Given the description of an element on the screen output the (x, y) to click on. 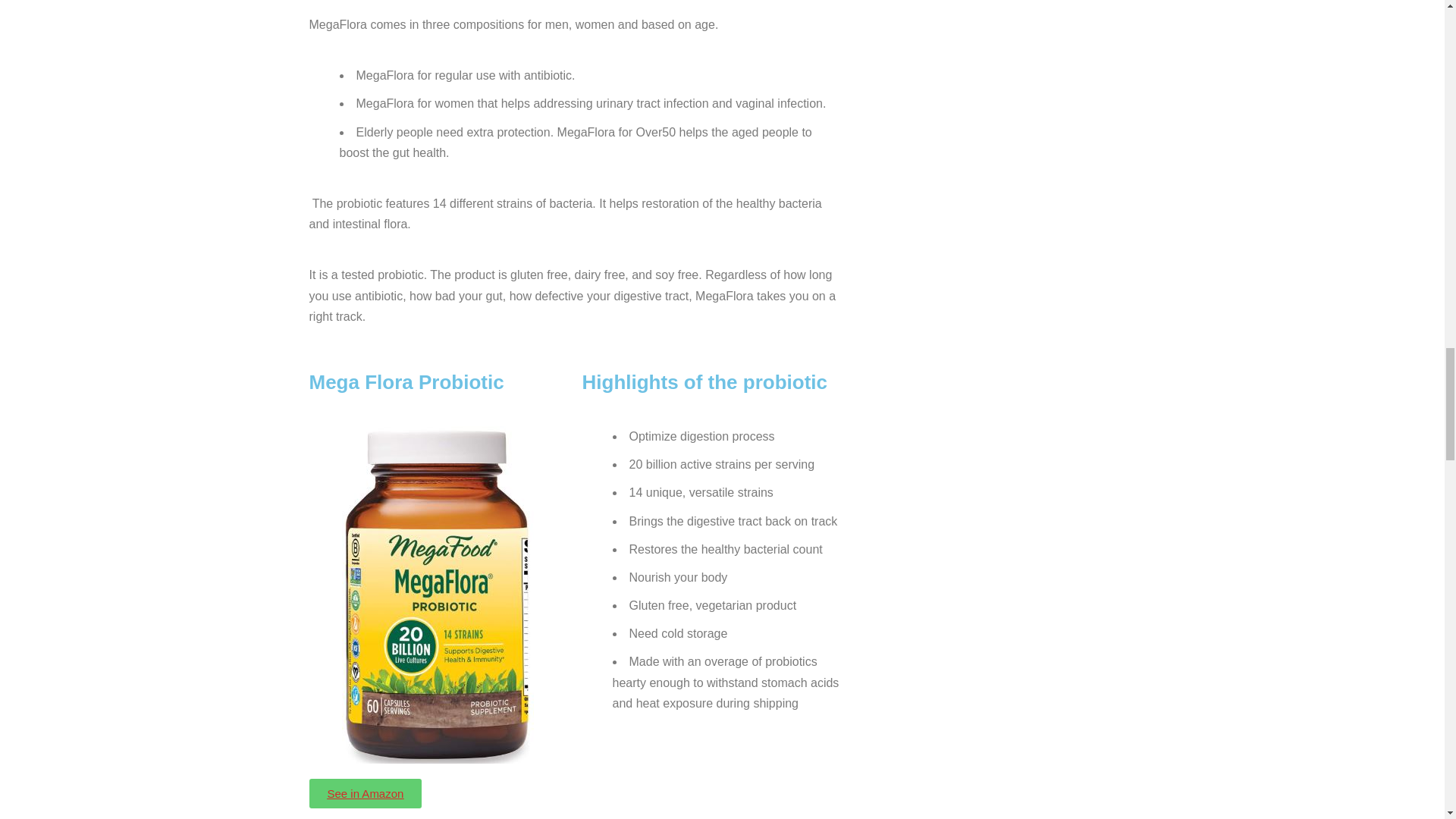
See in Amazon (365, 793)
